Given the description of an element on the screen output the (x, y) to click on. 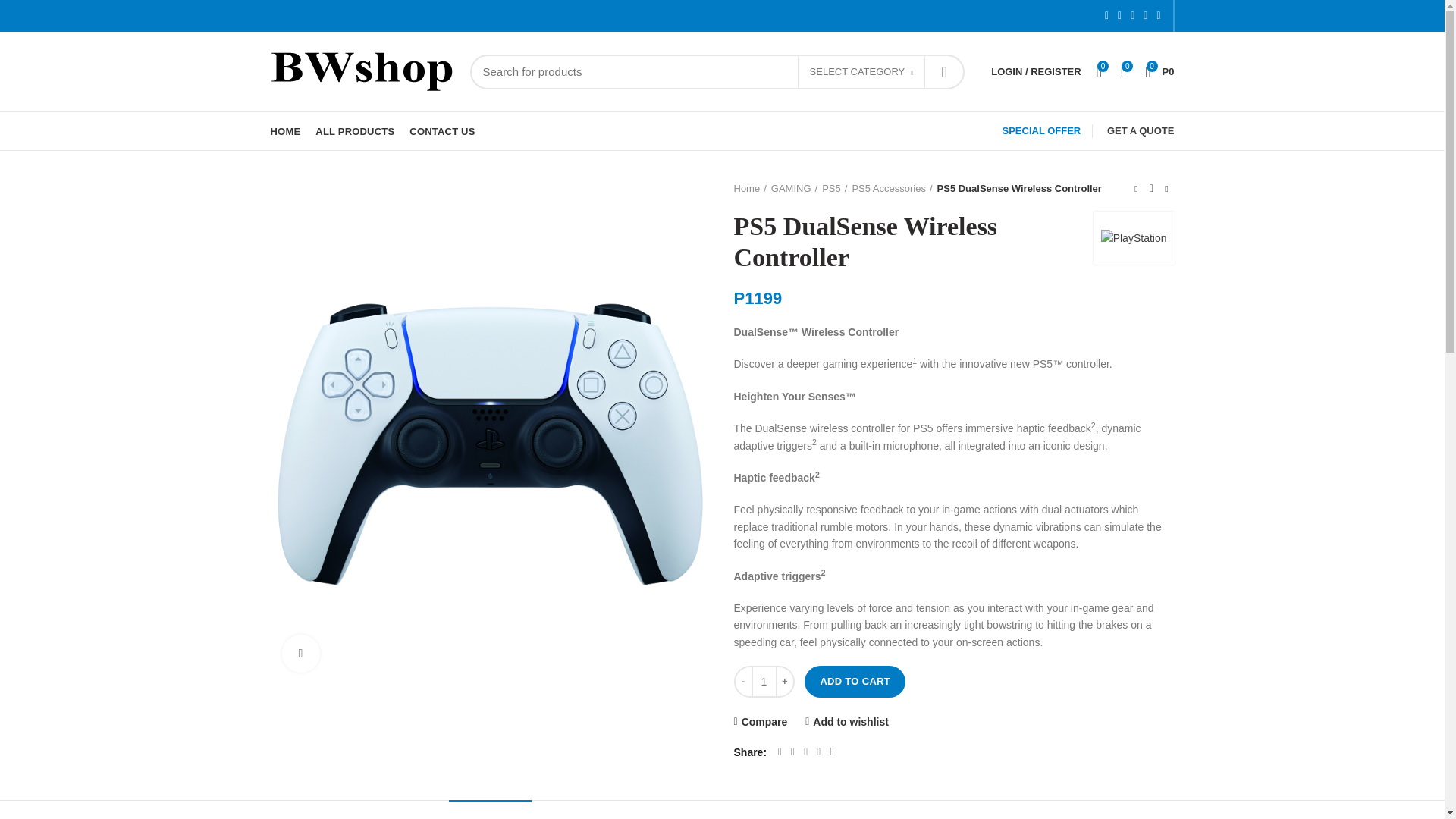
My account (1035, 71)
SELECT CATEGORY (860, 72)
Shopping cart (1158, 71)
PlayStation (1133, 238)
SELECT CATEGORY (861, 71)
